Given the description of an element on the screen output the (x, y) to click on. 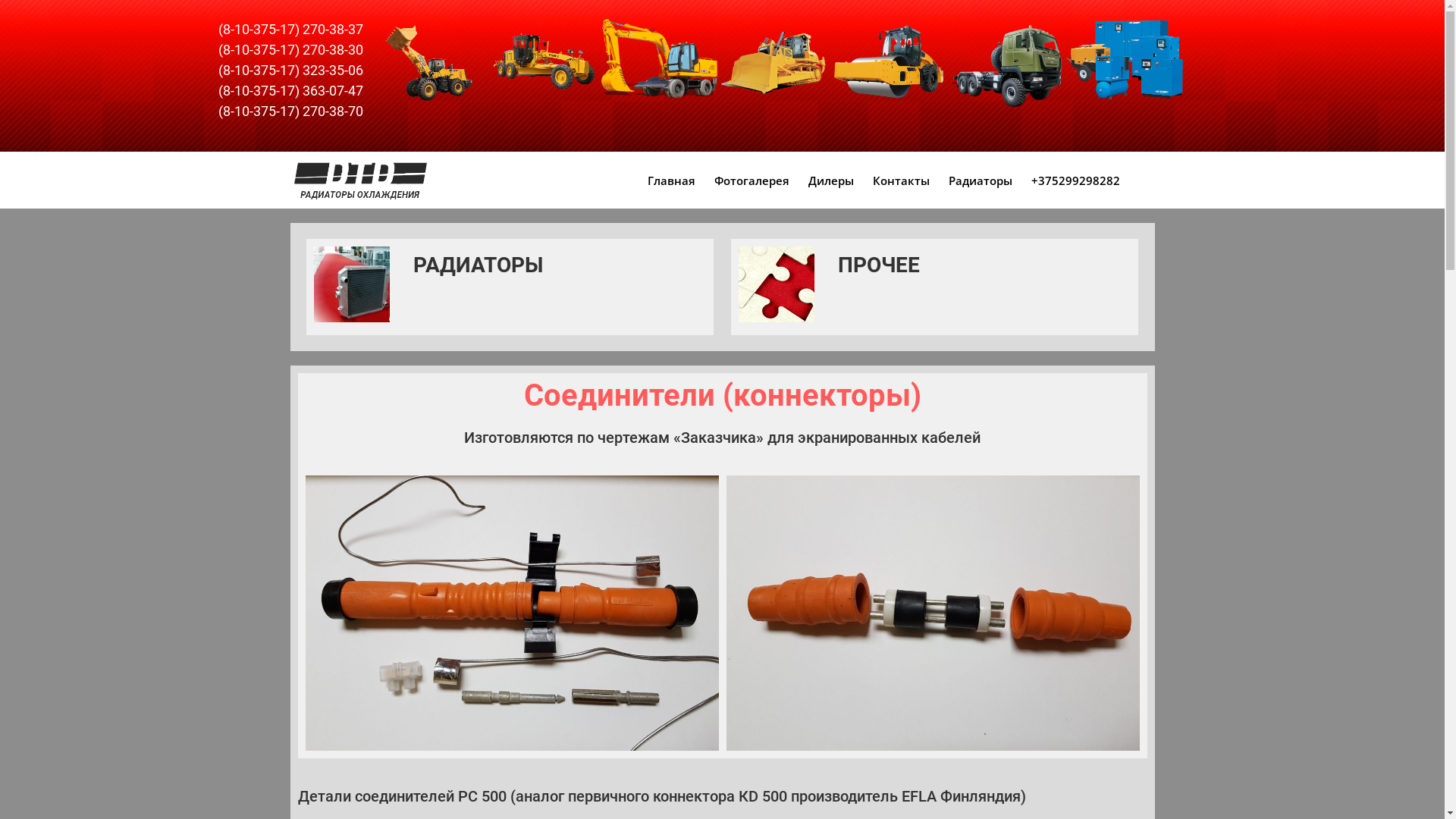
+375299298282 Element type: text (1075, 179)
